Given the description of an element on the screen output the (x, y) to click on. 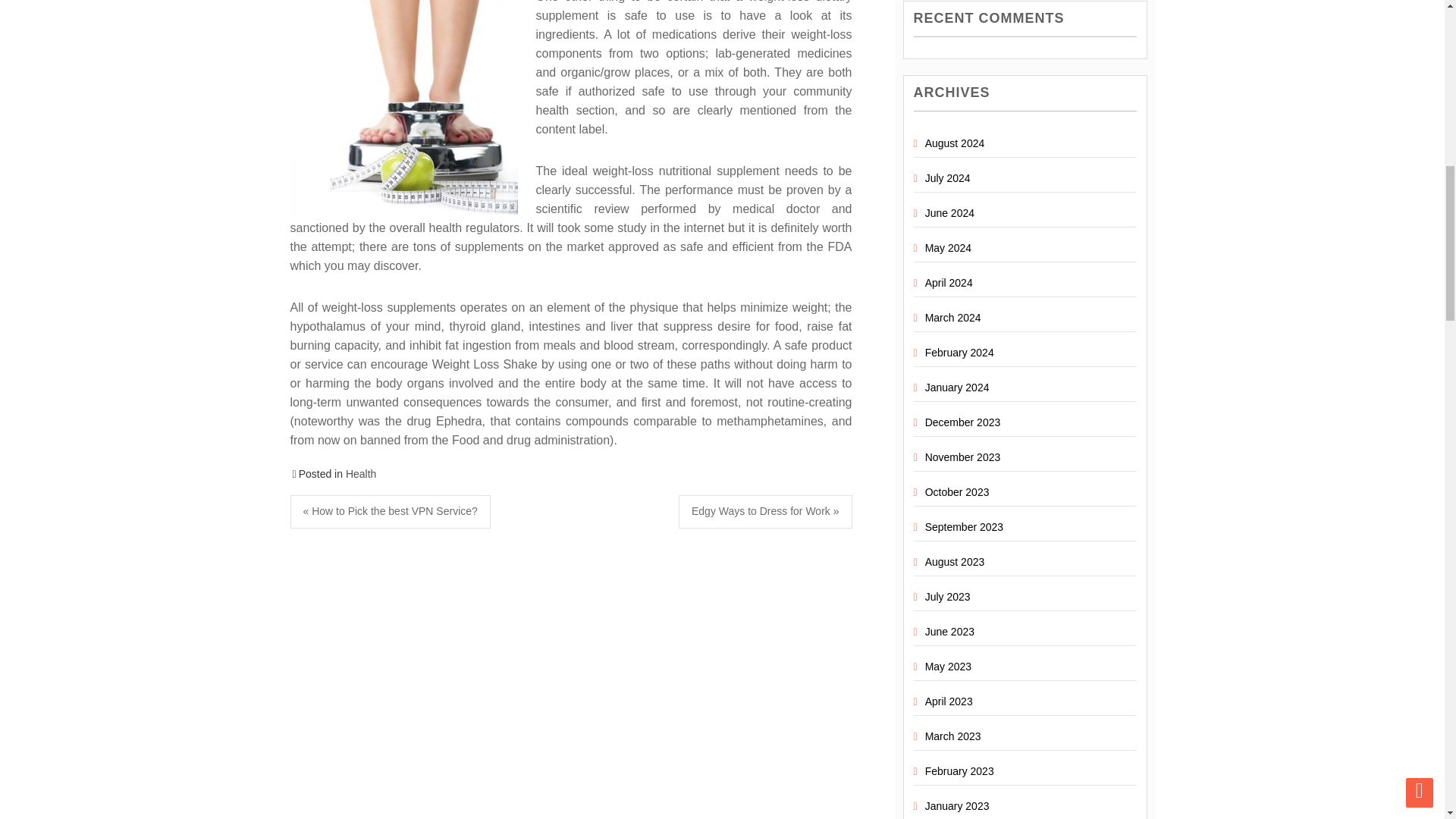
December 2023 (962, 422)
April 2024 (948, 282)
February 2024 (959, 352)
May 2024 (947, 247)
July 2023 (947, 596)
Health (361, 473)
November 2023 (962, 457)
September 2023 (964, 526)
August 2024 (954, 143)
July 2024 (947, 177)
